Given the description of an element on the screen output the (x, y) to click on. 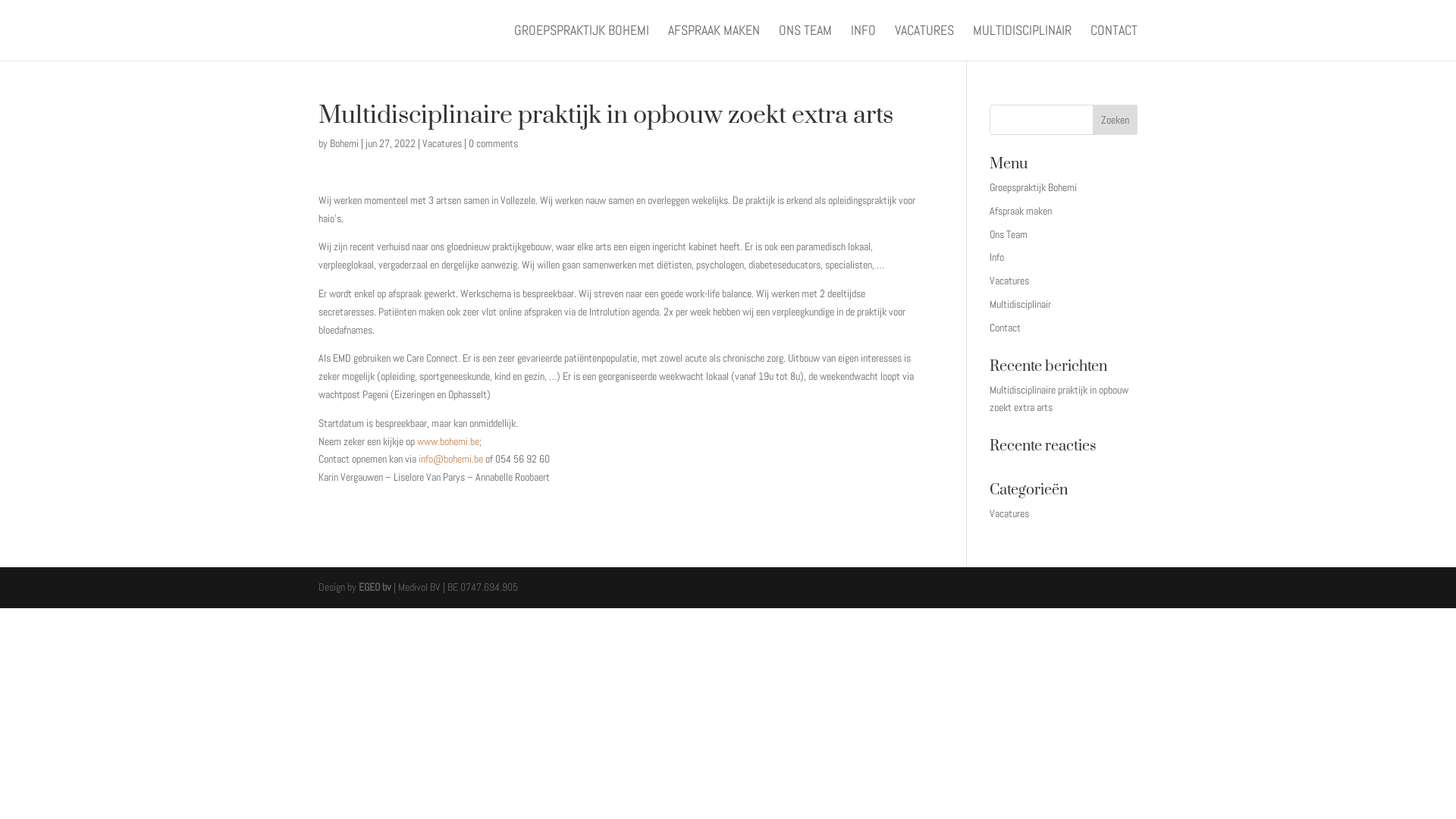
Ons Team Element type: text (1008, 234)
Bohemi Element type: text (343, 143)
Multidisciplinair Element type: text (1020, 303)
Groepspraktijk Bohemi Element type: text (1032, 187)
Vacatures Element type: text (1009, 513)
Afspraak maken Element type: text (1020, 210)
AFSPRAAK MAKEN Element type: text (713, 42)
Contact Element type: text (1004, 327)
Info Element type: text (996, 256)
GROEPSPRAKTIJK BOHEMI Element type: text (581, 42)
MULTIDISCIPLINAIR Element type: text (1021, 42)
Zoeken Element type: text (1114, 119)
info@bohemi.be Element type: text (450, 458)
0 comments Element type: text (492, 143)
ONS TEAM Element type: text (804, 42)
INFO Element type: text (862, 42)
VACATURES Element type: text (923, 42)
Vacatures Element type: text (1009, 280)
CONTACT Element type: text (1113, 42)
Multidisciplinaire praktijk in opbouw zoekt extra arts Element type: text (1058, 398)
EGEO bv Element type: text (374, 586)
Vacatures Element type: text (441, 143)
www.bohemi.be Element type: text (448, 441)
